Given the description of an element on the screen output the (x, y) to click on. 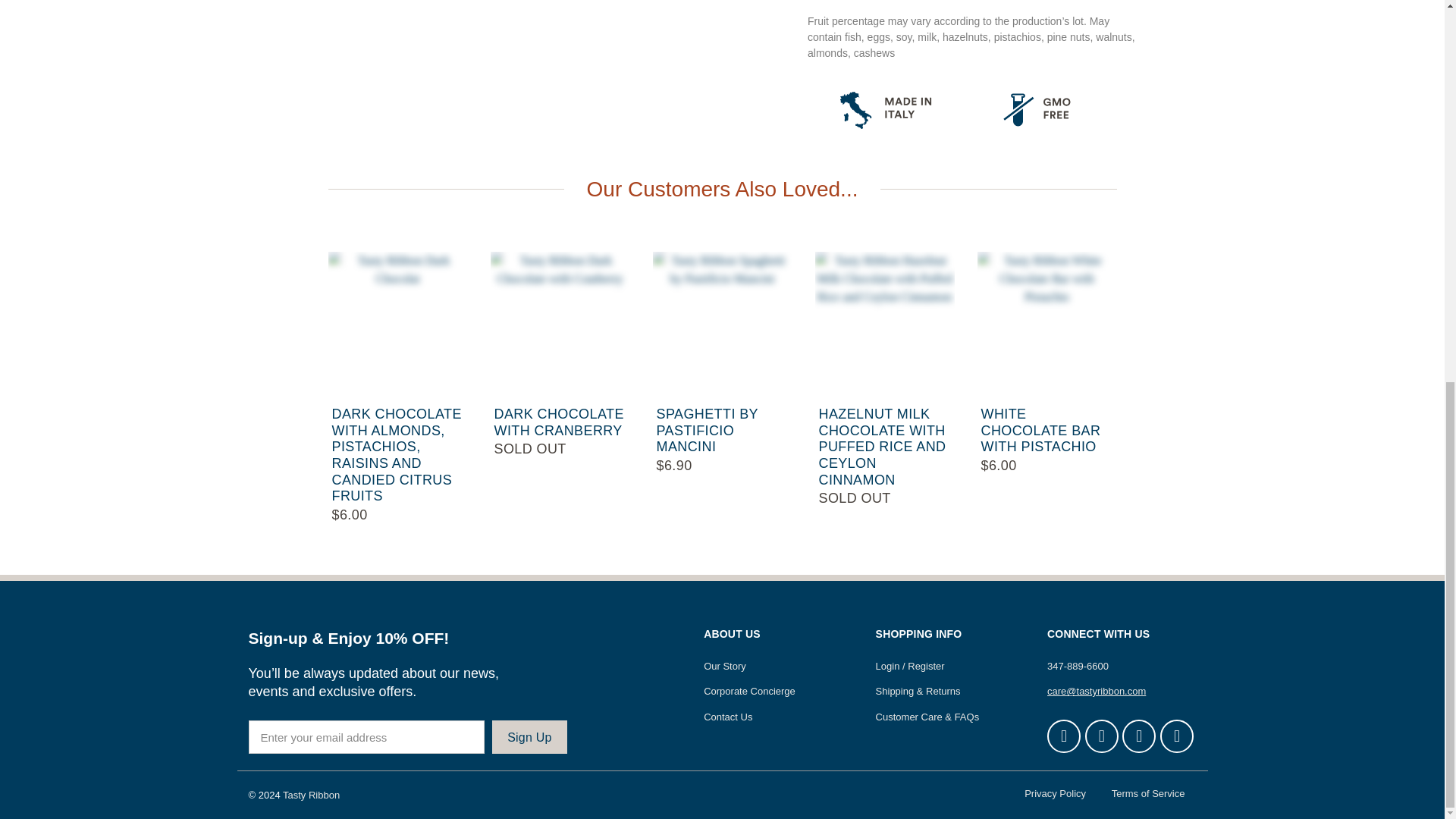
Tasty Ribbon on LinkedIn (1176, 735)
Tasty Ribbon on Facebook (1063, 735)
Tasty Ribbon on Instagram (1139, 735)
Tasty Ribbon on Pinterest (1101, 735)
Sign Up (529, 736)
